Given the description of an element on the screen output the (x, y) to click on. 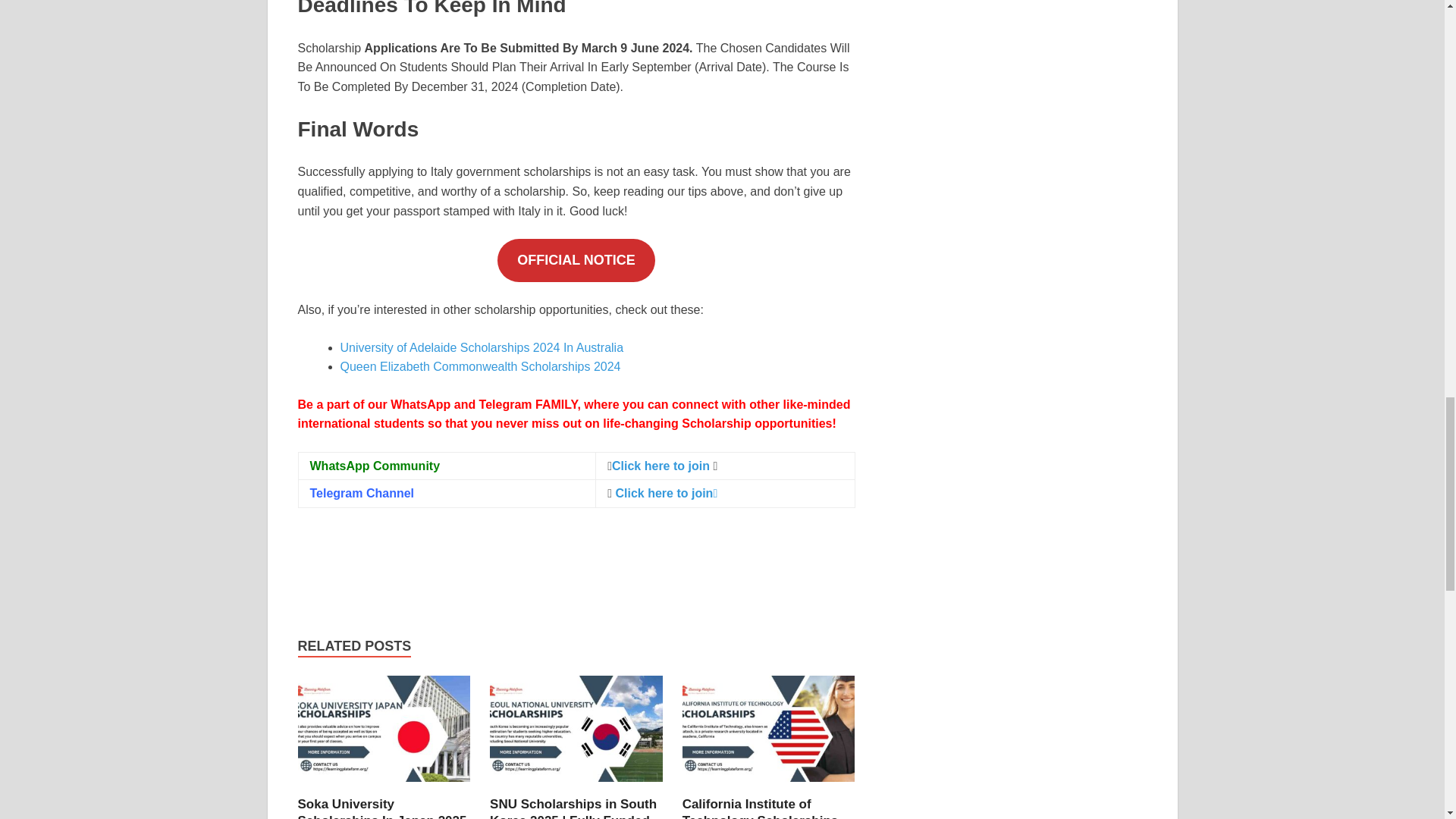
California Institute of Technology Scholarships for 2025 (760, 807)
OFFICIAL NOTICE (576, 260)
Click here to join  (662, 465)
Queen Elizabeth Commonwealth Scholarships 2024 (479, 366)
University of Adelaide Scholarships 2024 In Australia (481, 347)
California Institute of Technology Scholarships for 2025 (769, 786)
